Given the description of an element on the screen output the (x, y) to click on. 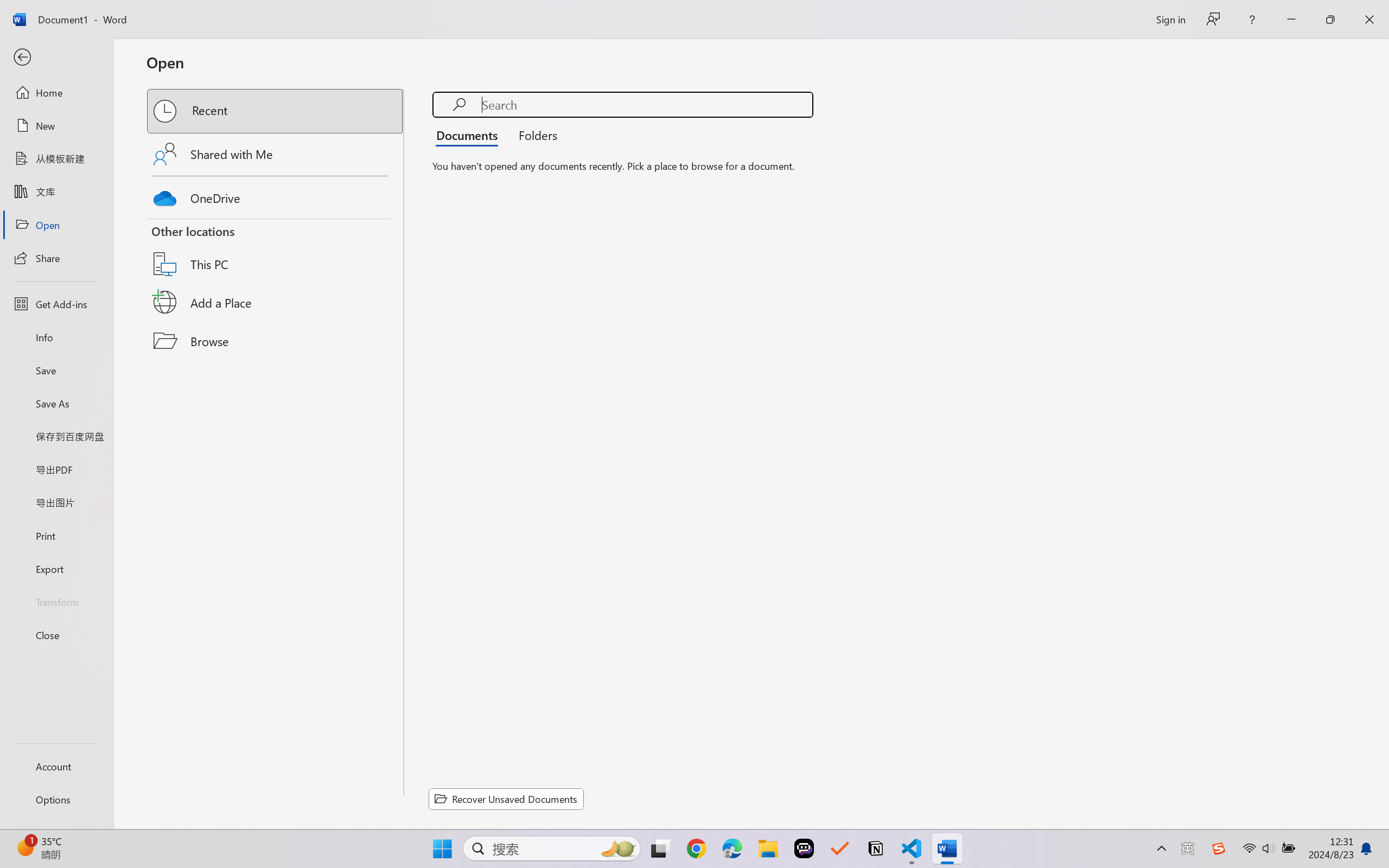
Info (56, 337)
Account (56, 765)
New (56, 125)
This PC (275, 249)
Browse (275, 340)
Recent (275, 110)
Options (56, 798)
OneDrive (275, 195)
